Given the description of an element on the screen output the (x, y) to click on. 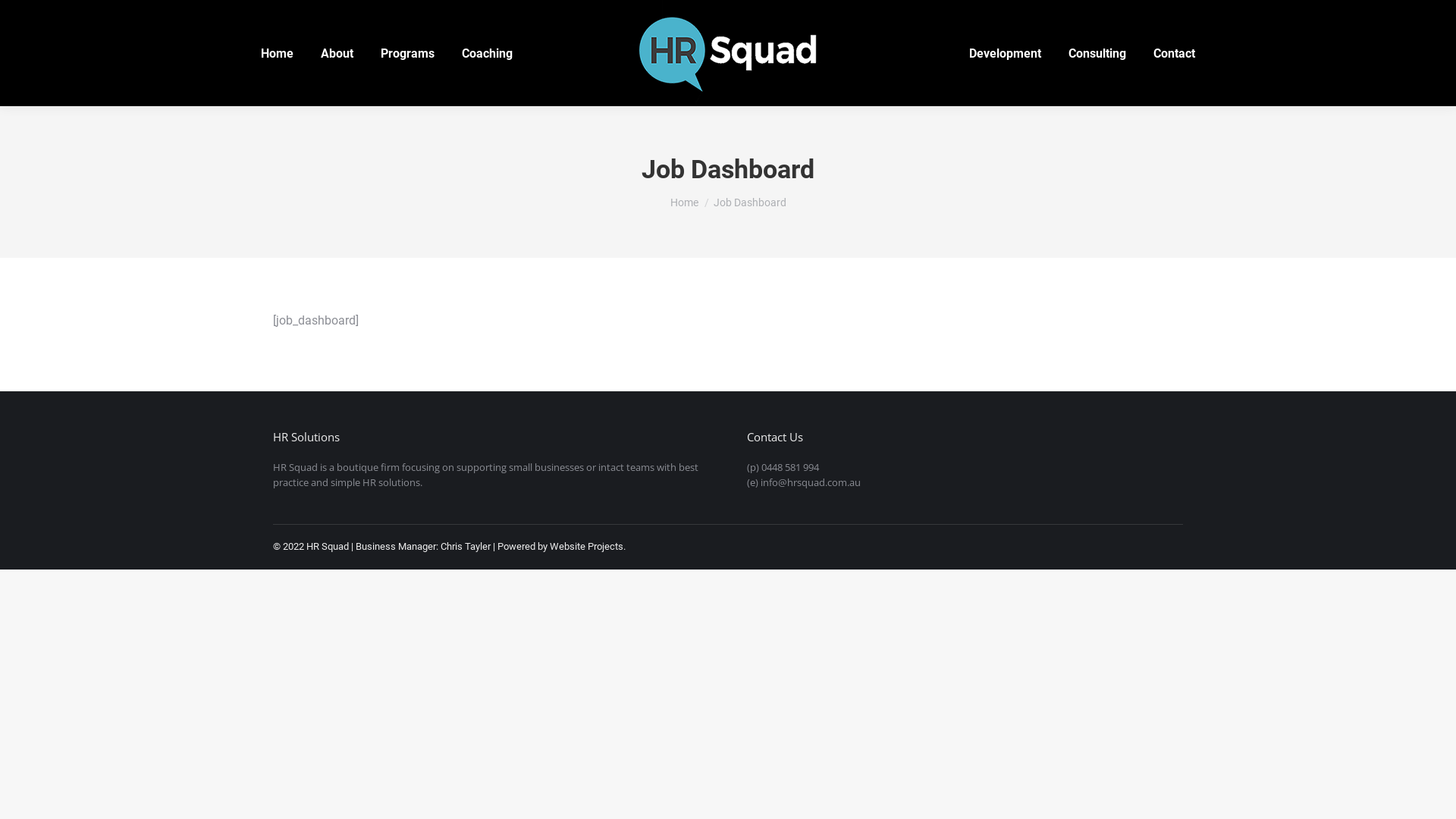
About Element type: text (336, 53)
Programs Element type: text (407, 53)
Home Element type: text (684, 202)
Consulting Element type: text (1097, 53)
Contact Element type: text (1174, 53)
Coaching Element type: text (486, 53)
Home Element type: text (276, 53)
Development Element type: text (1005, 53)
